Given the description of an element on the screen output the (x, y) to click on. 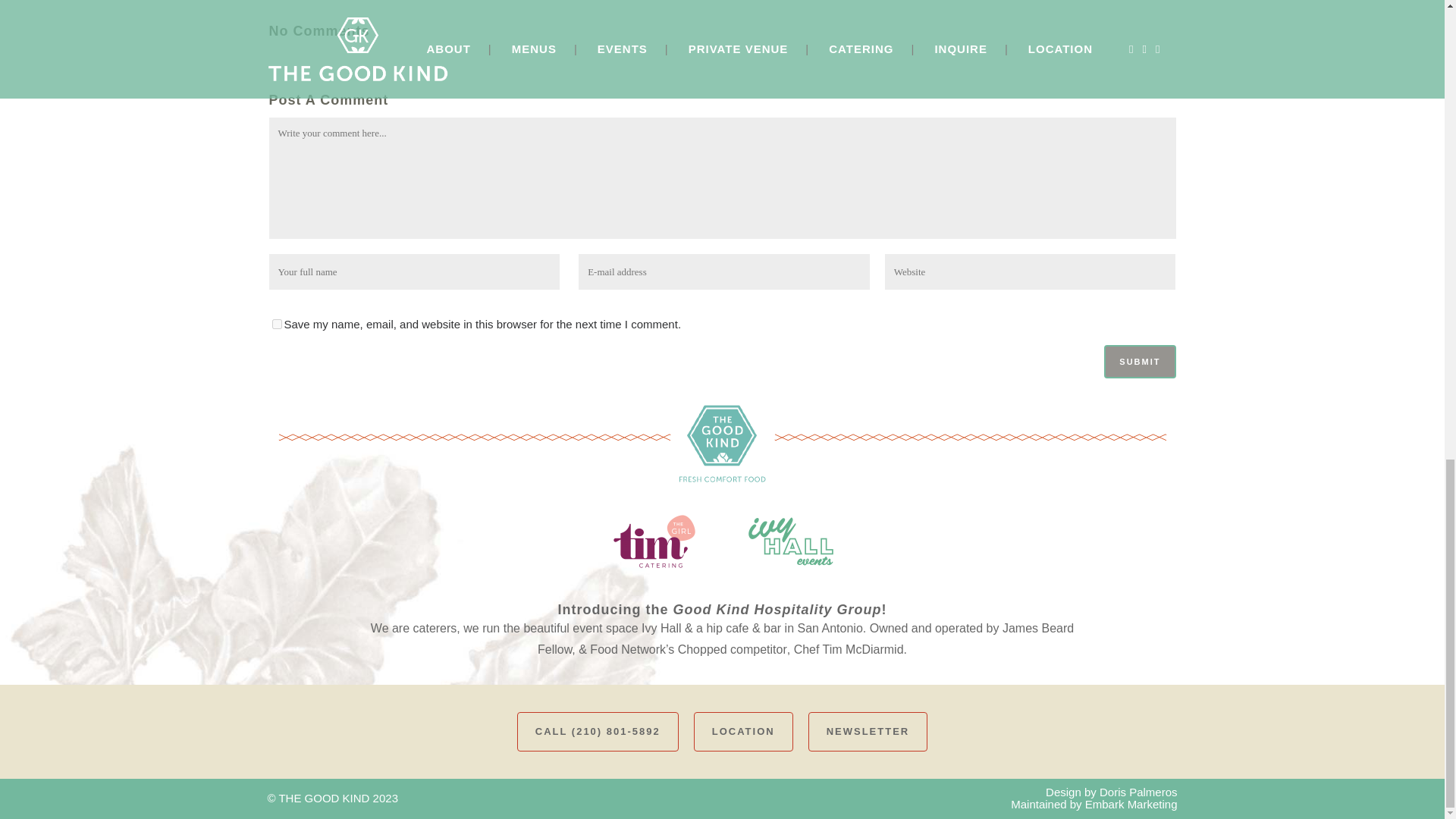
tim-logos-footer-tim-the-gril-07-10-19 (653, 541)
Submit (1138, 361)
yes (275, 324)
tim-logos-footer-ivy-hall-07-10-19 (790, 541)
